Given the description of an element on the screen output the (x, y) to click on. 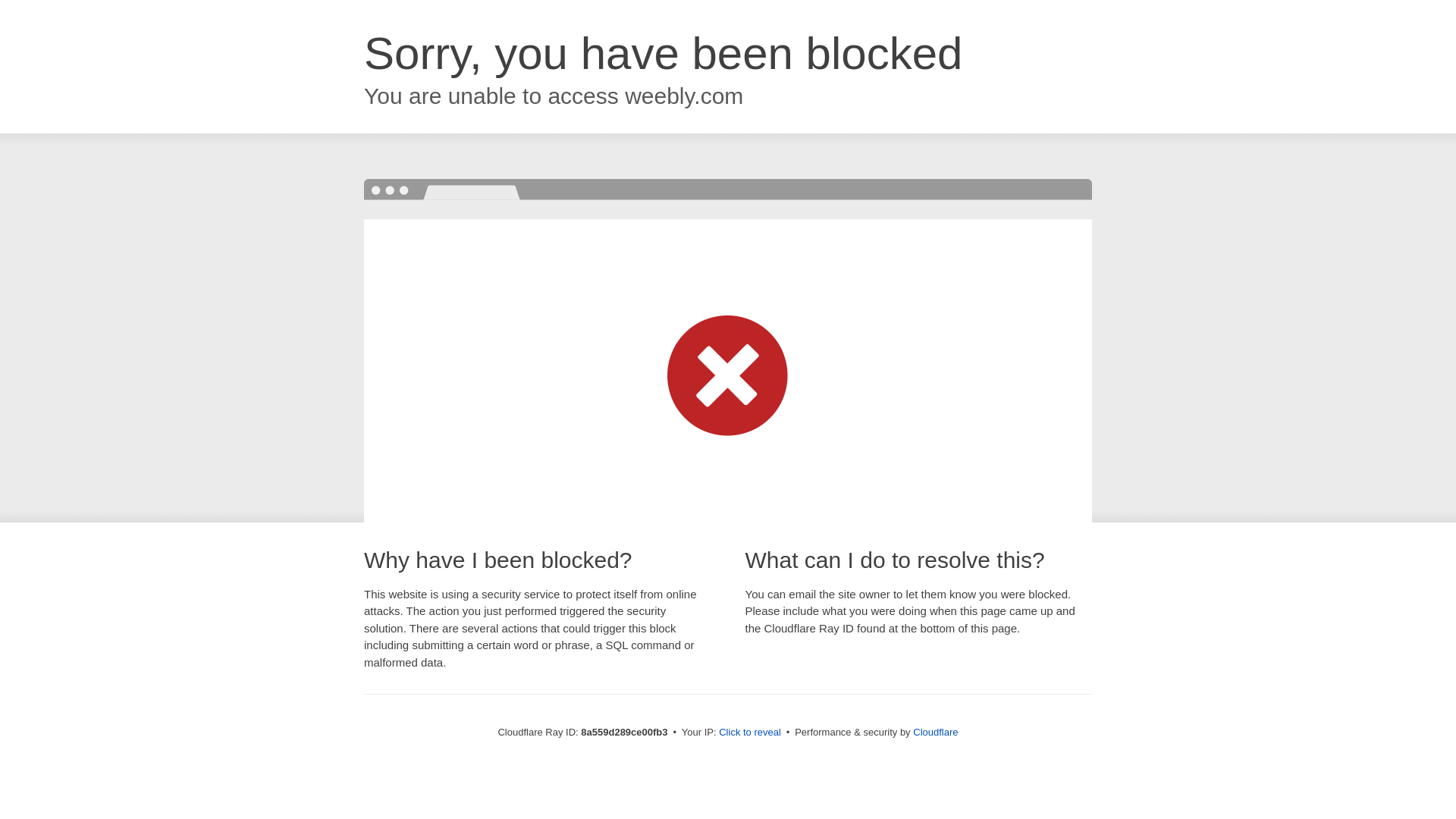
Click to reveal (749, 732)
Cloudflare (935, 731)
